Given the description of an element on the screen output the (x, y) to click on. 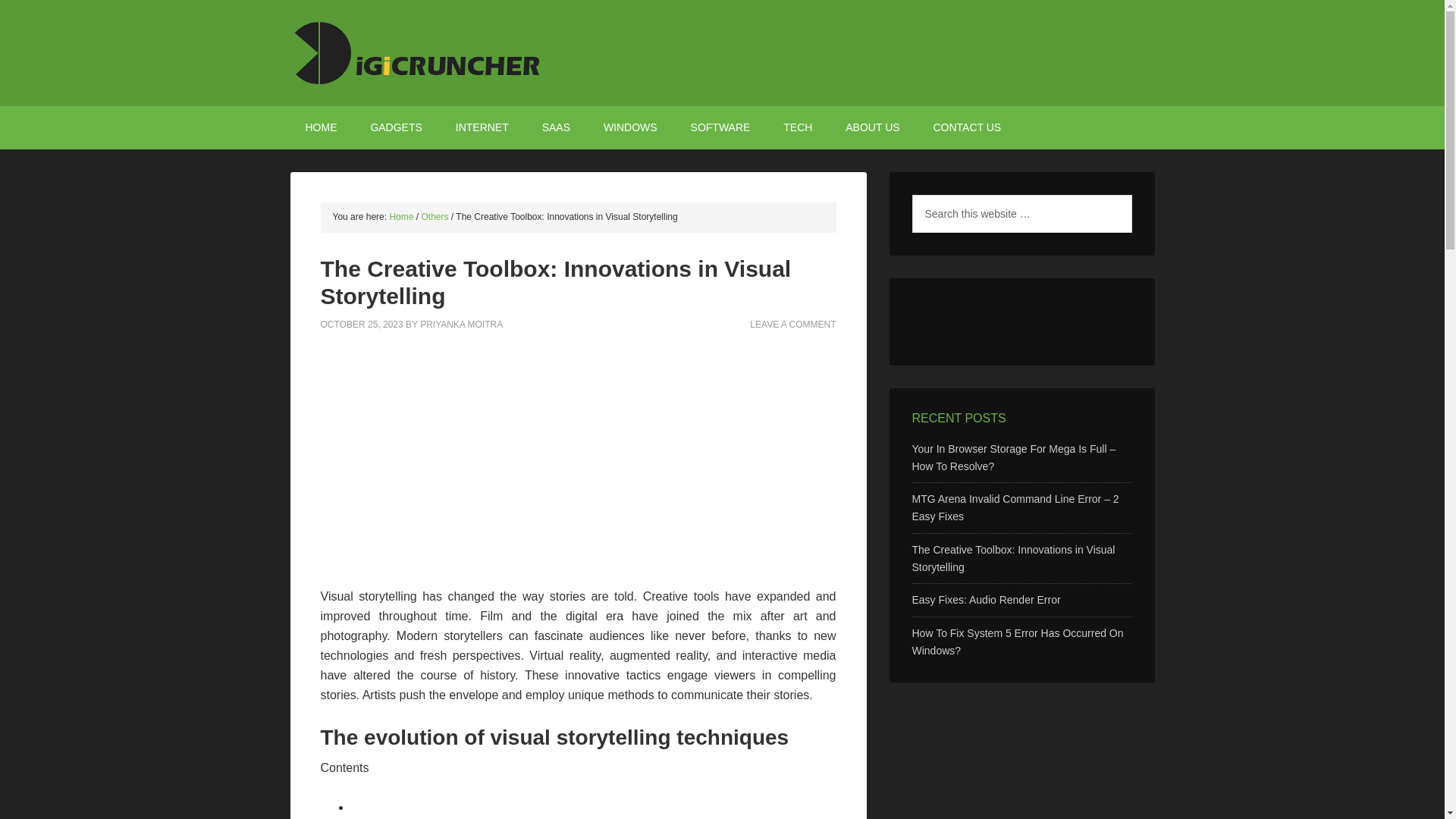
DIGICRUNCHER (721, 52)
GADGETS (395, 127)
LEAVE A COMMENT (792, 323)
SAAS (556, 127)
CONTACT US (966, 127)
TECH (797, 127)
HOME (320, 127)
ABOUT US (871, 127)
How To Fix System 5 Error Has Occurred On Windows? (1016, 641)
SOFTWARE (720, 127)
